Given the description of an element on the screen output the (x, y) to click on. 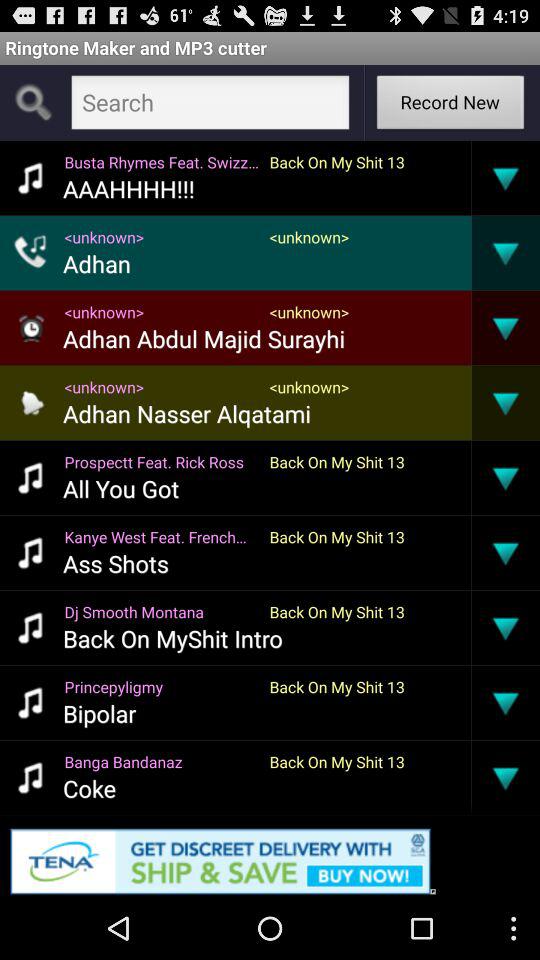
turn on app next to back on my item (161, 761)
